Given the description of an element on the screen output the (x, y) to click on. 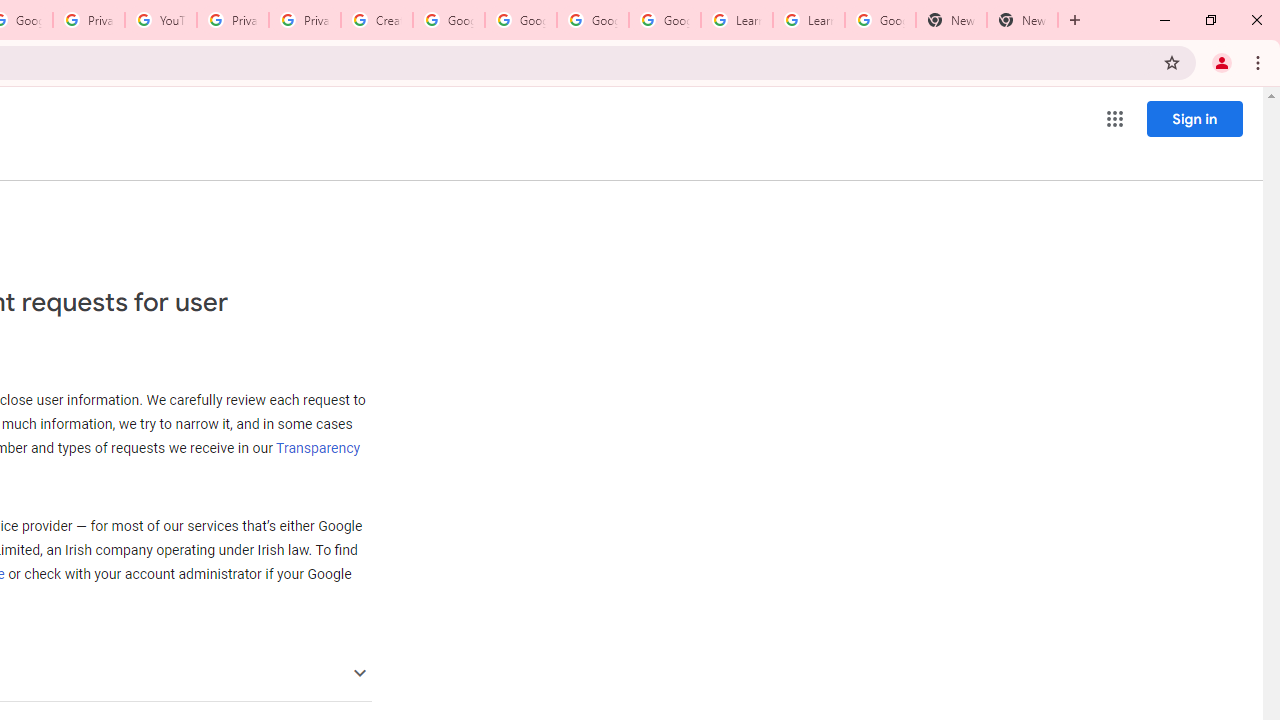
YouTube (161, 20)
Google Account Help (592, 20)
Create your Google Account (376, 20)
